Given the description of an element on the screen output the (x, y) to click on. 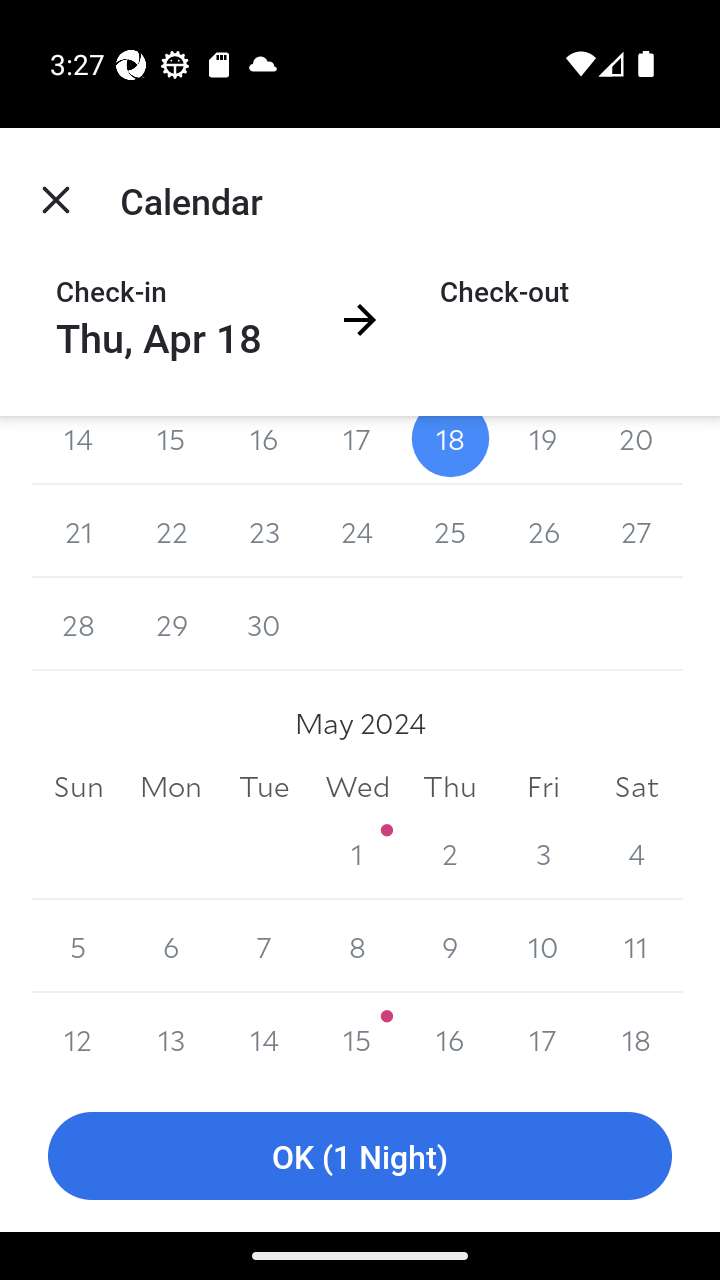
14 14 April 2024 (78, 450)
15 15 April 2024 (171, 450)
16 16 April 2024 (264, 450)
17 17 April 2024 (357, 450)
18 18 April 2024 (449, 450)
19 19 April 2024 (542, 450)
20 20 April 2024 (636, 450)
21 21 April 2024 (78, 531)
22 22 April 2024 (171, 531)
23 23 April 2024 (264, 531)
24 24 April 2024 (357, 531)
25 25 April 2024 (449, 531)
26 26 April 2024 (542, 531)
27 27 April 2024 (636, 531)
28 28 April 2024 (78, 624)
29 29 April 2024 (171, 624)
30 30 April 2024 (264, 624)
Sun (78, 785)
Mon (171, 785)
Tue (264, 785)
Wed (357, 785)
Thu (449, 785)
Fri (542, 785)
Sat (636, 785)
1 1 May 2024 (357, 852)
2 2 May 2024 (449, 852)
3 3 May 2024 (542, 852)
4 4 May 2024 (636, 852)
5 5 May 2024 (78, 946)
6 6 May 2024 (171, 946)
7 7 May 2024 (264, 946)
8 8 May 2024 (357, 946)
9 9 May 2024 (449, 946)
10 10 May 2024 (542, 946)
11 11 May 2024 (636, 946)
12 12 May 2024 (78, 1036)
13 13 May 2024 (171, 1036)
14 14 May 2024 (264, 1036)
15 15 May 2024 (357, 1036)
16 16 May 2024 (449, 1036)
17 17 May 2024 (542, 1036)
18 18 May 2024 (636, 1036)
OK (1 Night) (359, 1156)
